Given the description of an element on the screen output the (x, y) to click on. 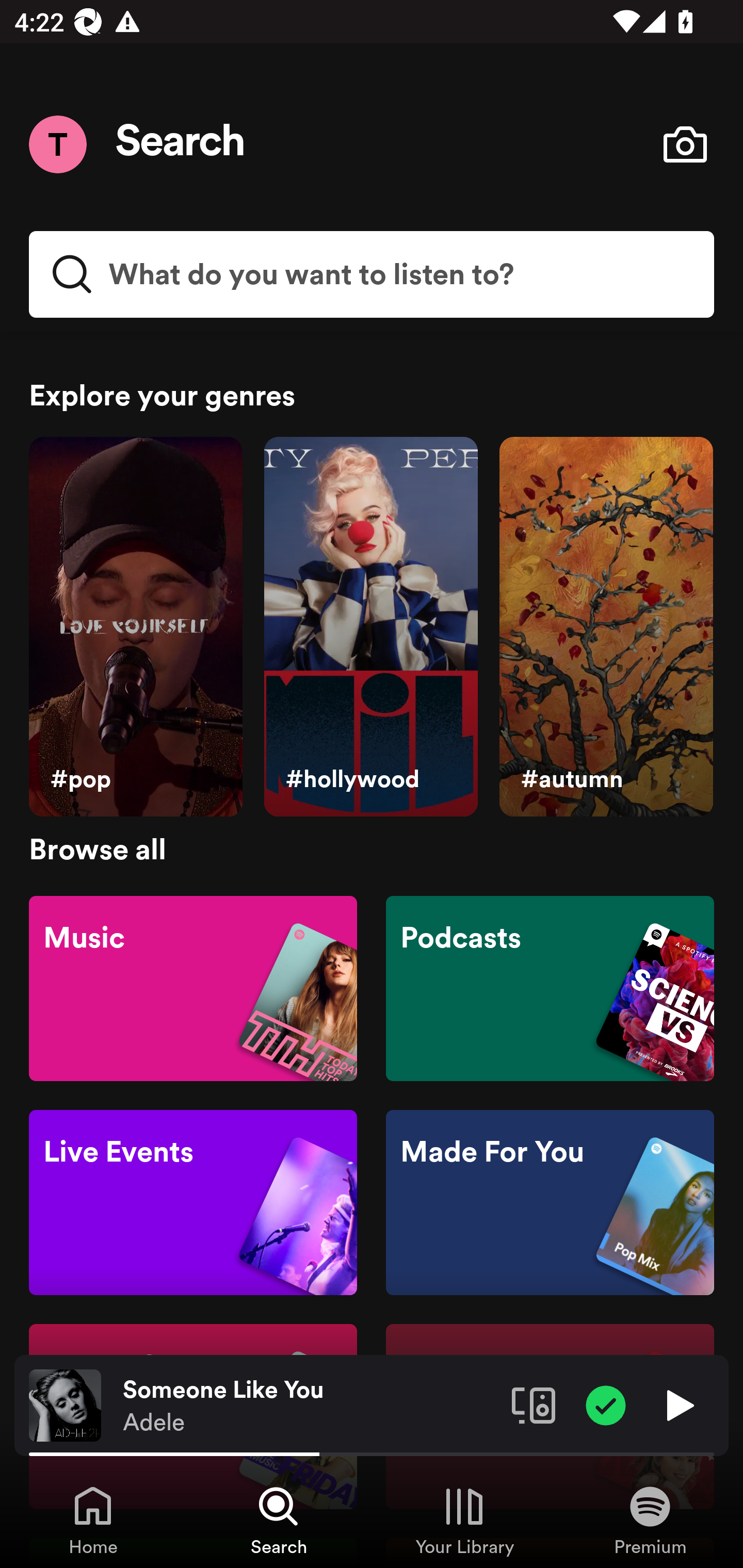
Menu (57, 144)
Open camera (685, 145)
Search (180, 144)
#pop (135, 626)
#hollywood (370, 626)
#autumn (606, 626)
Music (192, 987)
Podcasts (549, 987)
Live Events (192, 1202)
Made For You (549, 1202)
Someone Like You Adele (309, 1405)
The cover art of the currently playing track (64, 1404)
Connect to a device. Opens the devices menu (533, 1404)
Item added (605, 1404)
Play (677, 1404)
Home, Tab 1 of 4 Home Home (92, 1519)
Search, Tab 2 of 4 Search Search (278, 1519)
Your Library, Tab 3 of 4 Your Library Your Library (464, 1519)
Premium, Tab 4 of 4 Premium Premium (650, 1519)
